Given the description of an element on the screen output the (x, y) to click on. 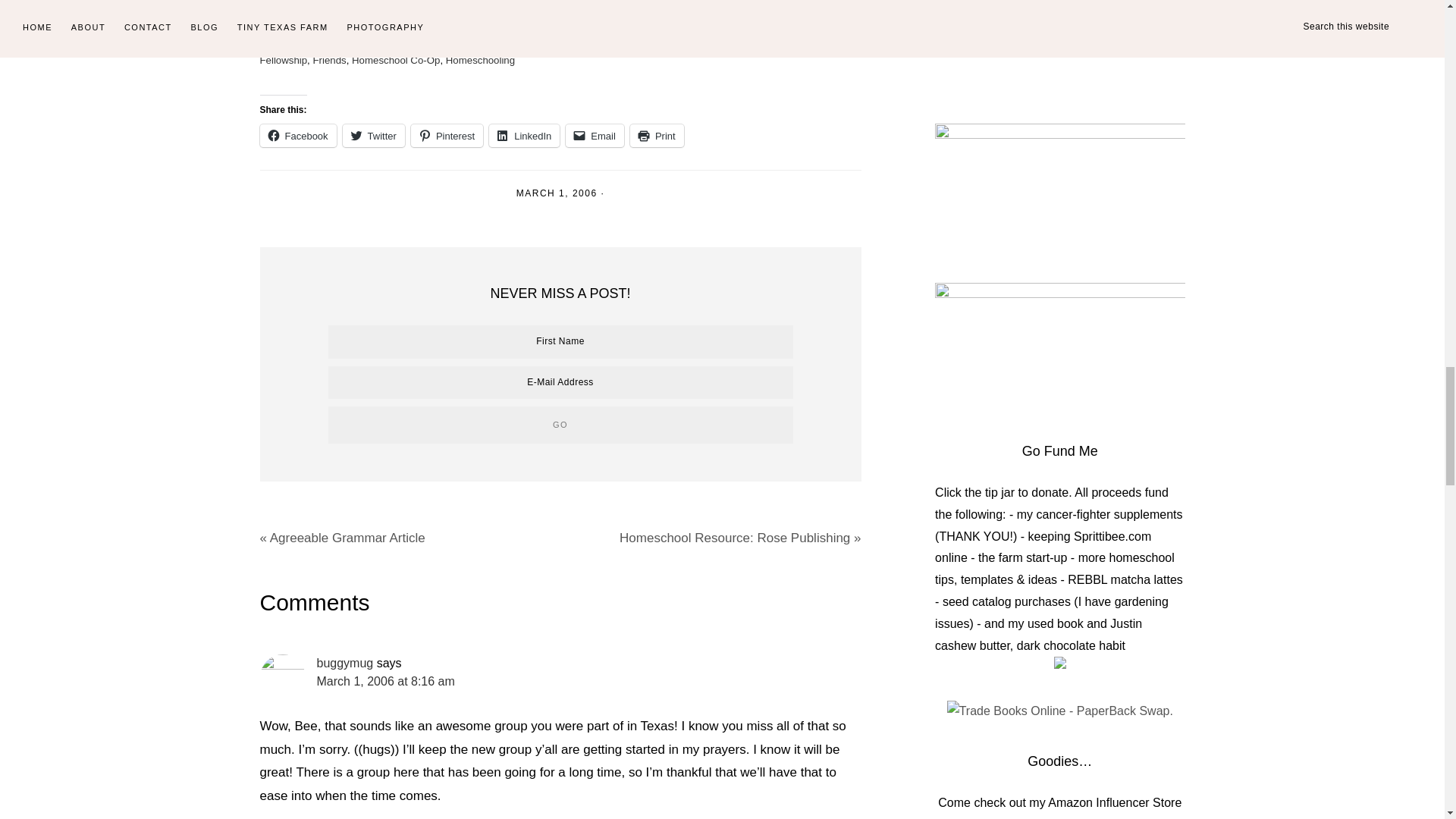
Click to share on LinkedIn (524, 135)
Trade Books Online - PaperBack Swap. (1060, 710)
Click to email a link to a friend (595, 135)
Go (559, 424)
Click to share on Facebook (297, 135)
Click to share on Twitter (373, 135)
Click to share on Pinterest (446, 135)
Click to print (657, 135)
